Given the description of an element on the screen output the (x, y) to click on. 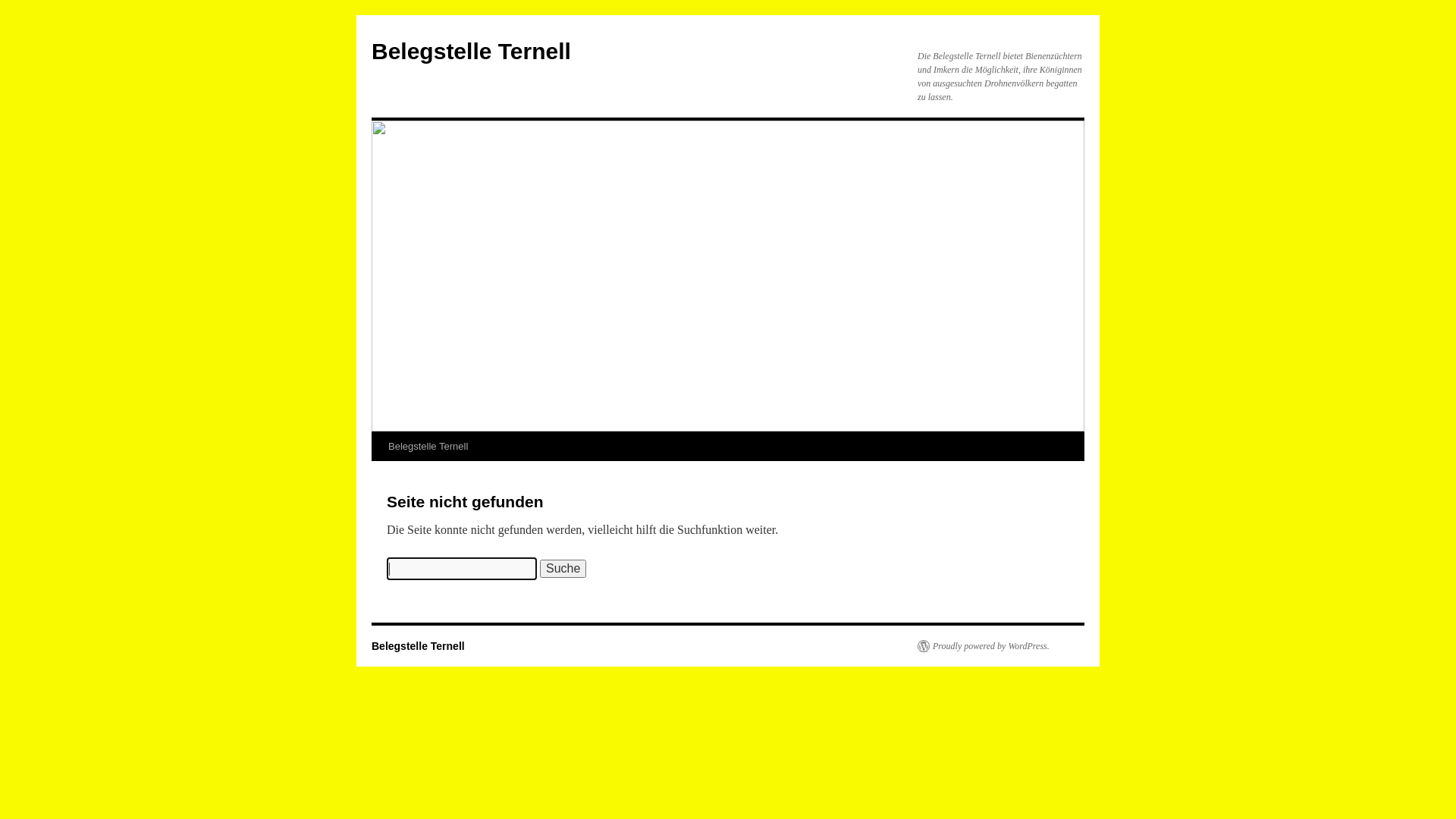
Proudly powered by WordPress. Element type: text (983, 646)
Belegstelle Ternell Element type: text (417, 646)
Belegstelle Ternell Element type: text (471, 50)
Zum Inhalt springen Element type: text (377, 474)
Suche Element type: text (562, 568)
Belegstelle Ternell Element type: text (427, 446)
